Given the description of an element on the screen output the (x, y) to click on. 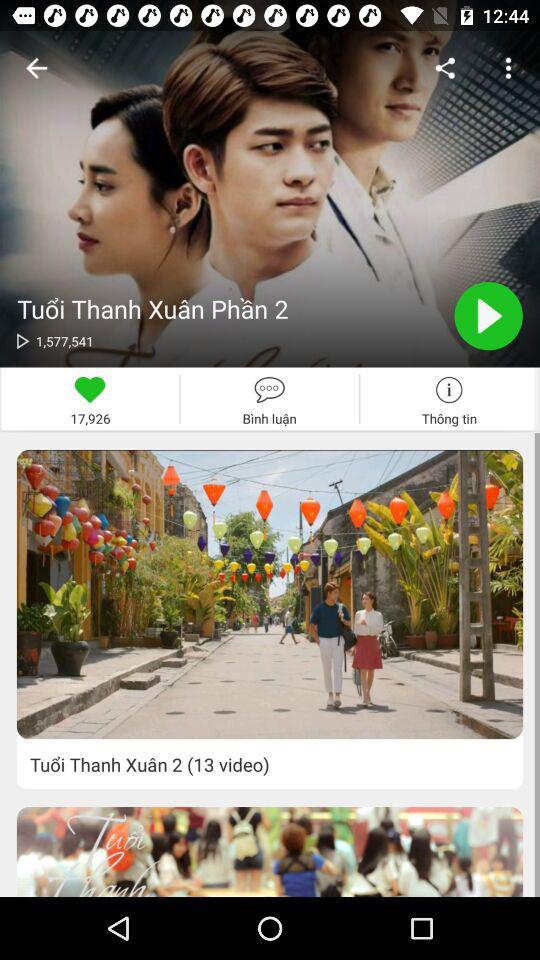
select the tab below the play button on the web page (449, 399)
select the last image at the bottom of the page (269, 851)
select the first tab on left side of the web page (90, 399)
the pause button shown on the first image from the top (489, 316)
click the three dots button on the top right corner of the web page (508, 68)
